Given the description of an element on the screen output the (x, y) to click on. 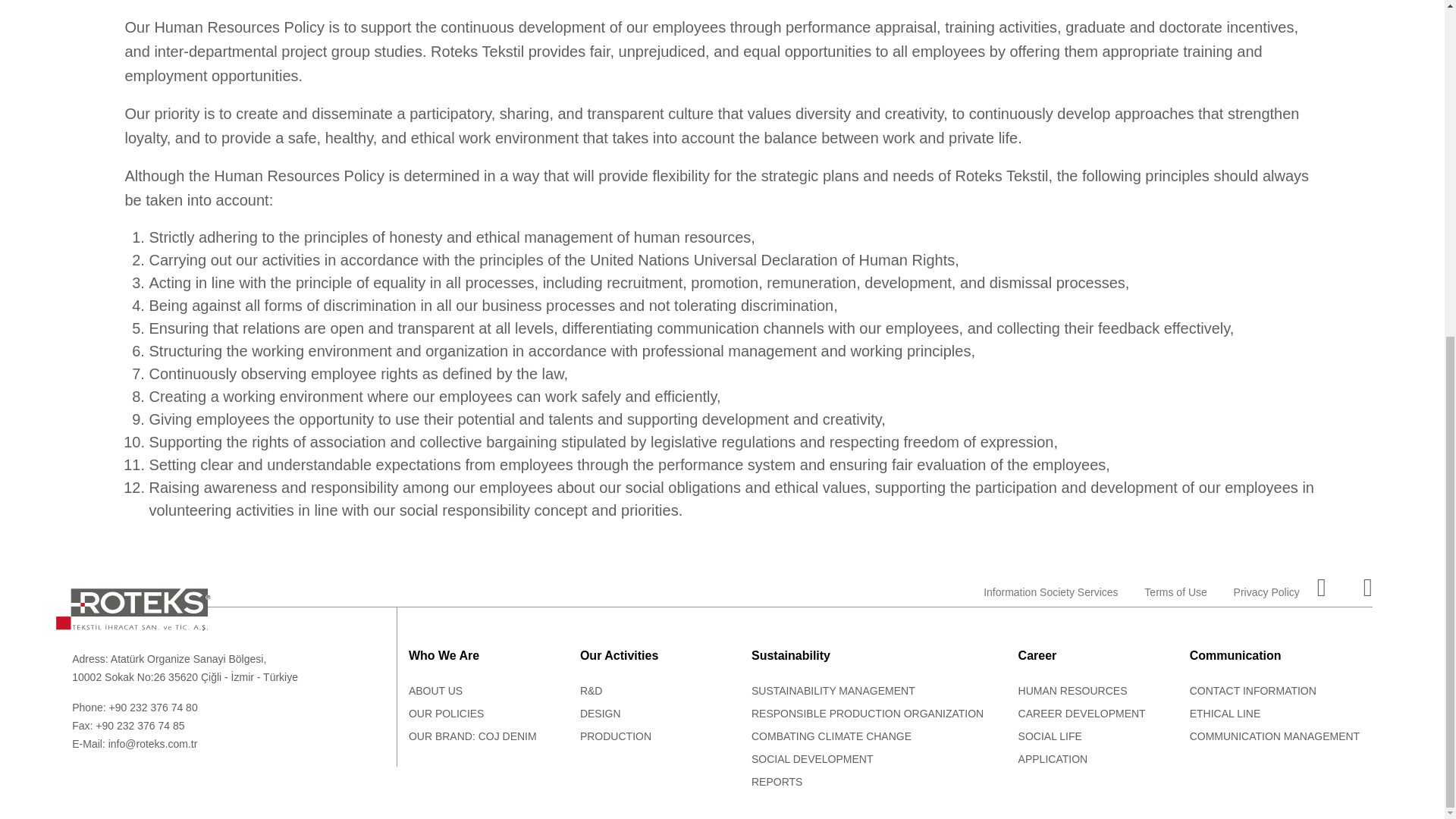
Privacy Policy (1266, 592)
ETHICAL LINE (1224, 713)
CAREER DEVELOPMENT (1081, 713)
COMMUNICATION MANAGEMENT (1274, 736)
SOCIAL LIFE (1049, 736)
SOCIAL DEVELOPMENT (812, 758)
SOCIAL DEVELOPMENT (812, 758)
HUMAN RESOURCES (1071, 690)
OUR BRAND: COJ DENIM (473, 736)
CAREER DEVELOPMENT (1081, 713)
